Given the description of an element on the screen output the (x, y) to click on. 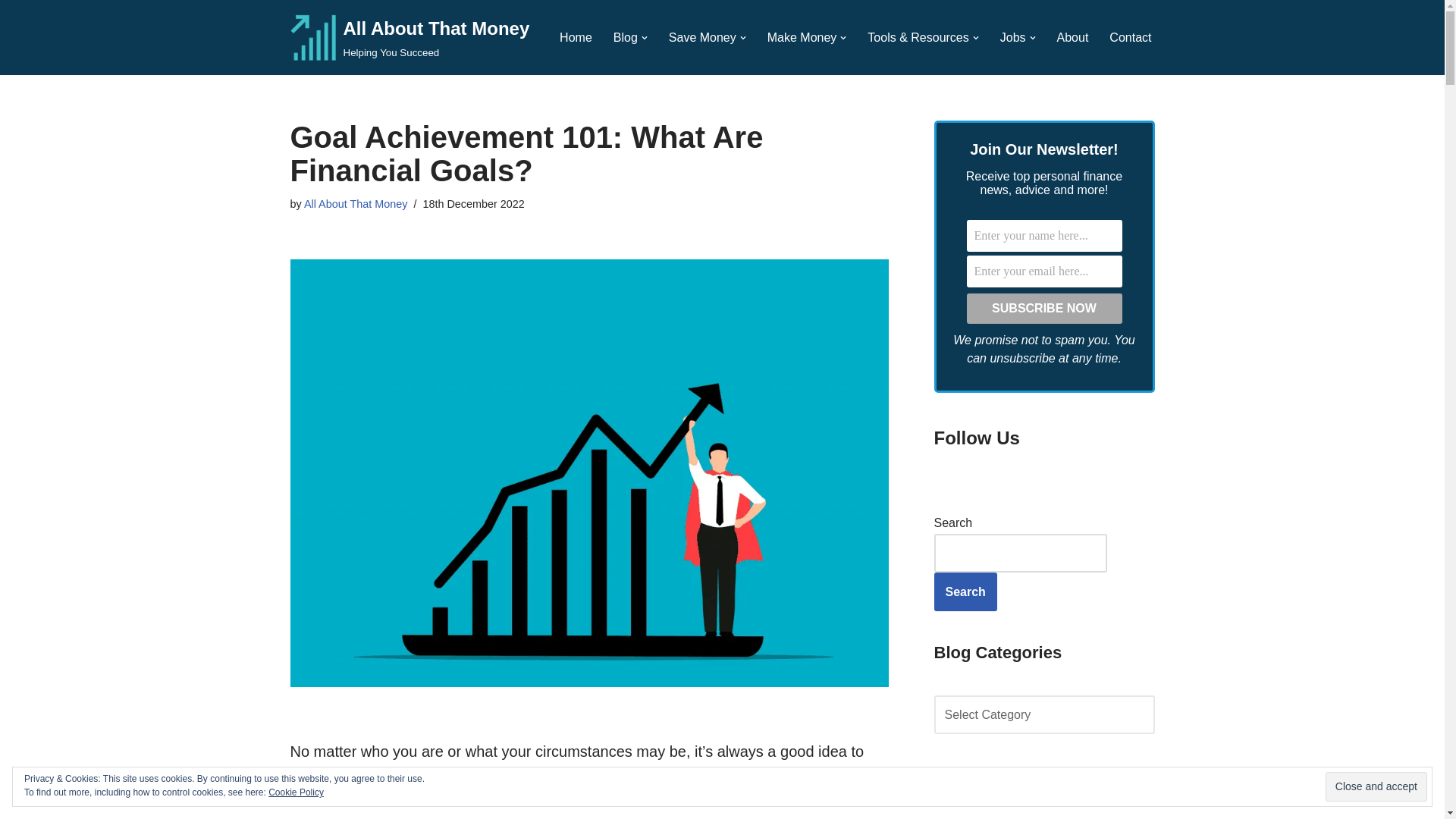
Blog (624, 37)
Make Money (802, 37)
Skip to content (11, 31)
Save Money (702, 37)
Posts by All About That Money (355, 203)
Close and accept (1375, 786)
Subscribe Now (1043, 308)
Home (575, 37)
